Given the description of an element on the screen output the (x, y) to click on. 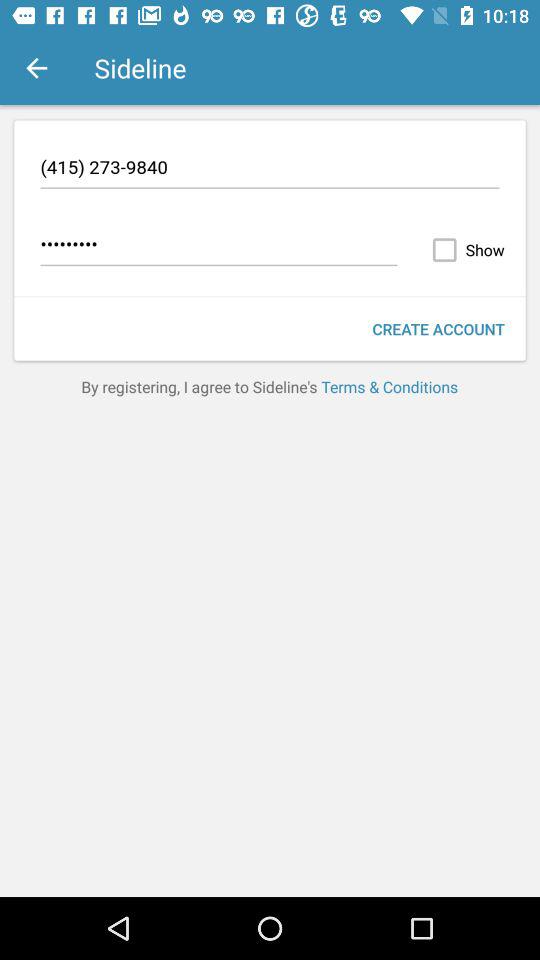
scroll until the create account icon (438, 328)
